Given the description of an element on the screen output the (x, y) to click on. 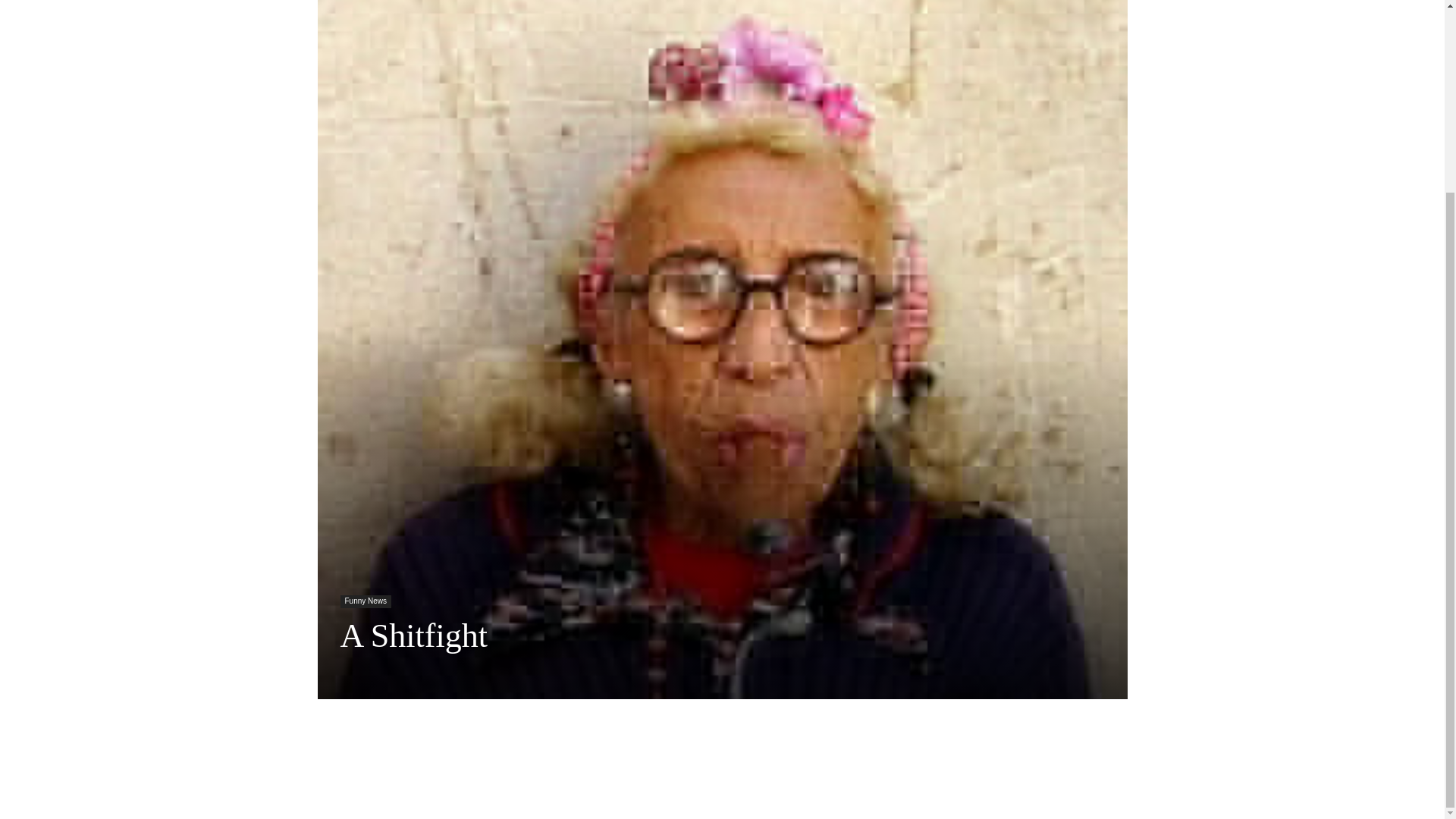
Funny News (365, 601)
